Given the description of an element on the screen output the (x, y) to click on. 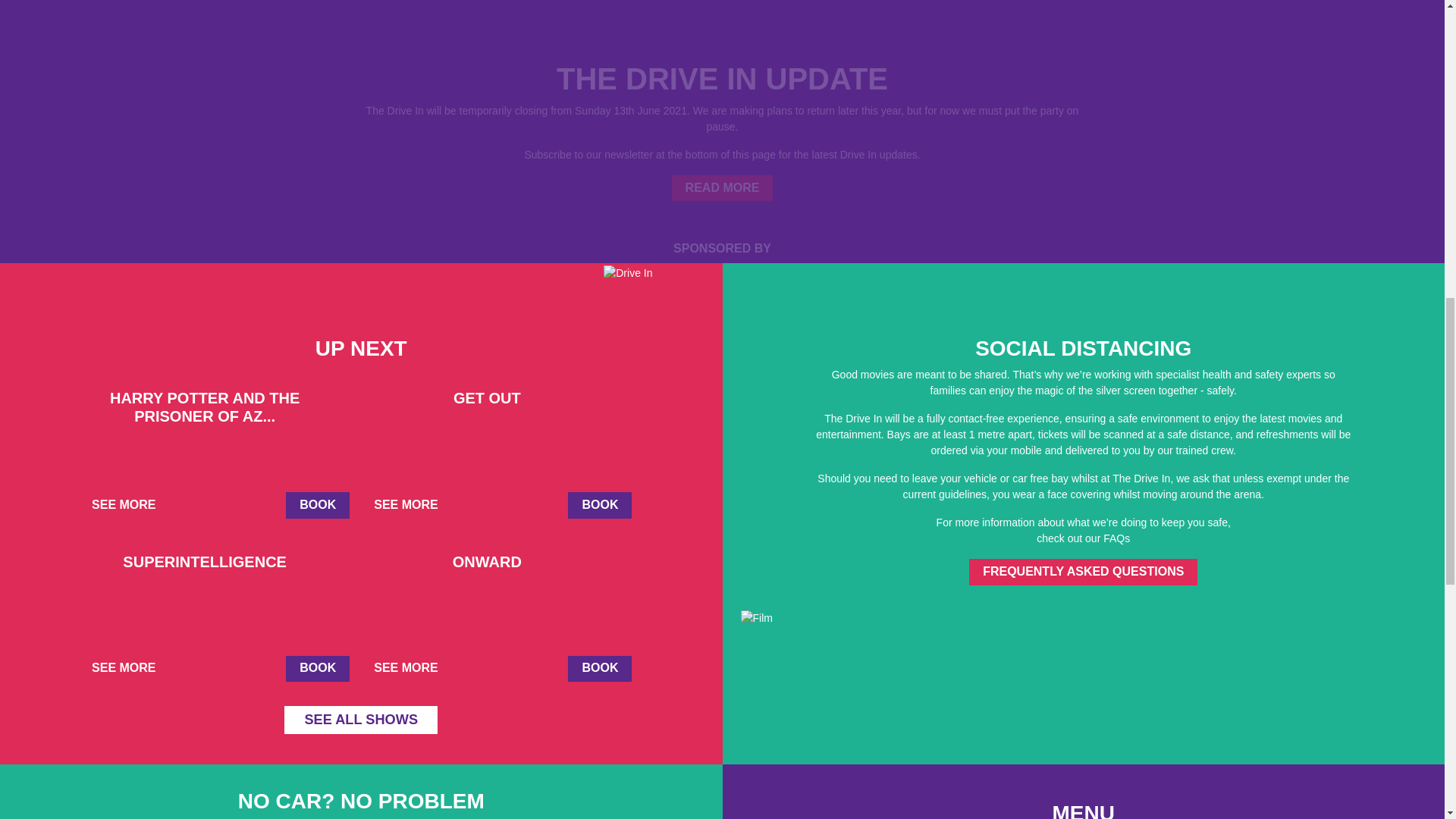
BOOK (599, 668)
READ MORE (722, 187)
BOOK (317, 668)
BOOK (599, 504)
SEE ALL SHOWS (360, 719)
BOOK (317, 504)
FREQUENTLY ASKED QUESTIONS (1082, 571)
SEE MORE (129, 668)
SEE MORE (129, 504)
SEE MORE (411, 668)
